Given the description of an element on the screen output the (x, y) to click on. 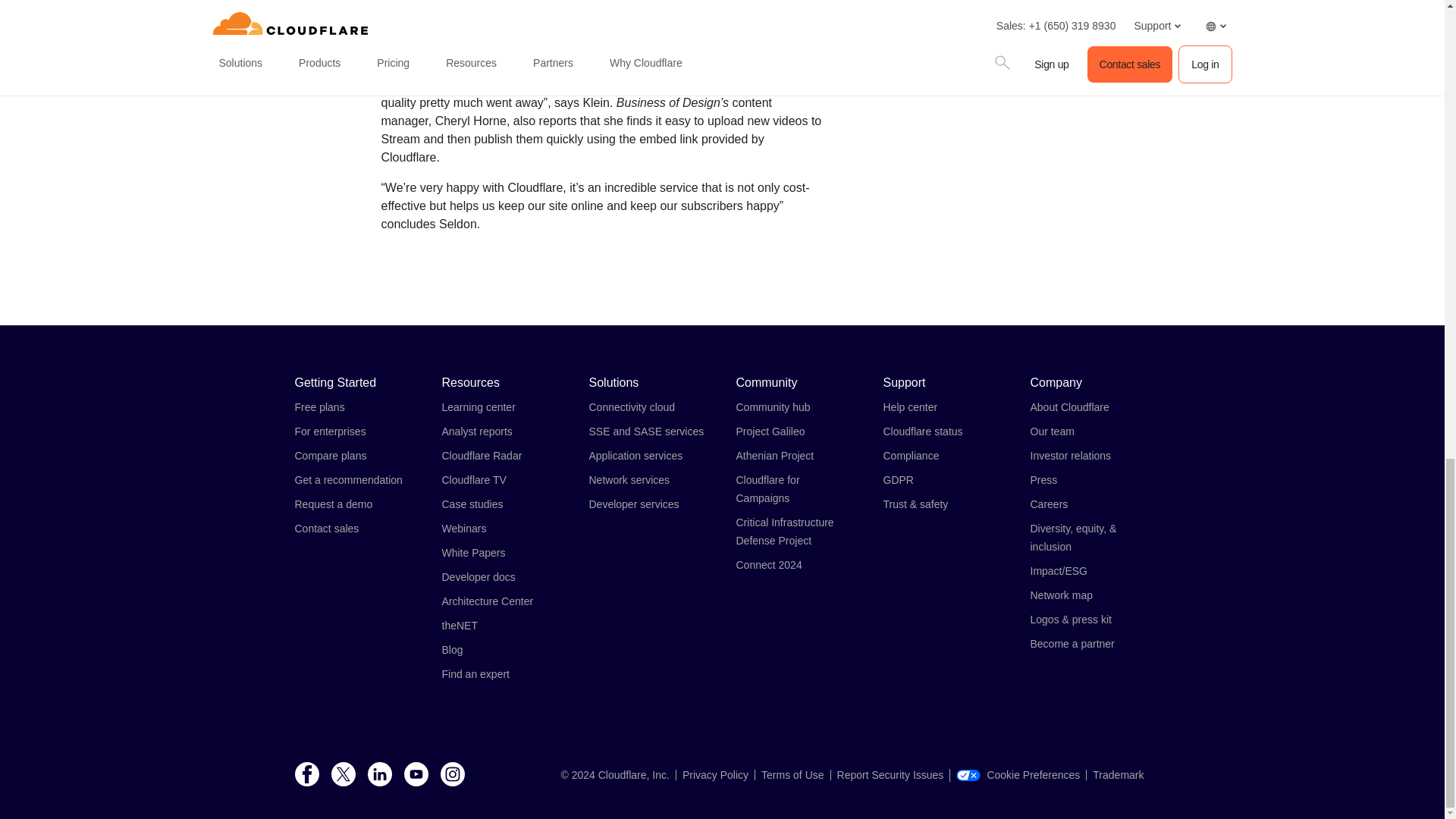
Free plans (318, 407)
LinkedIn (378, 775)
Instagram (451, 775)
Youtube (415, 775)
X (342, 775)
Facebook (306, 775)
